Given the description of an element on the screen output the (x, y) to click on. 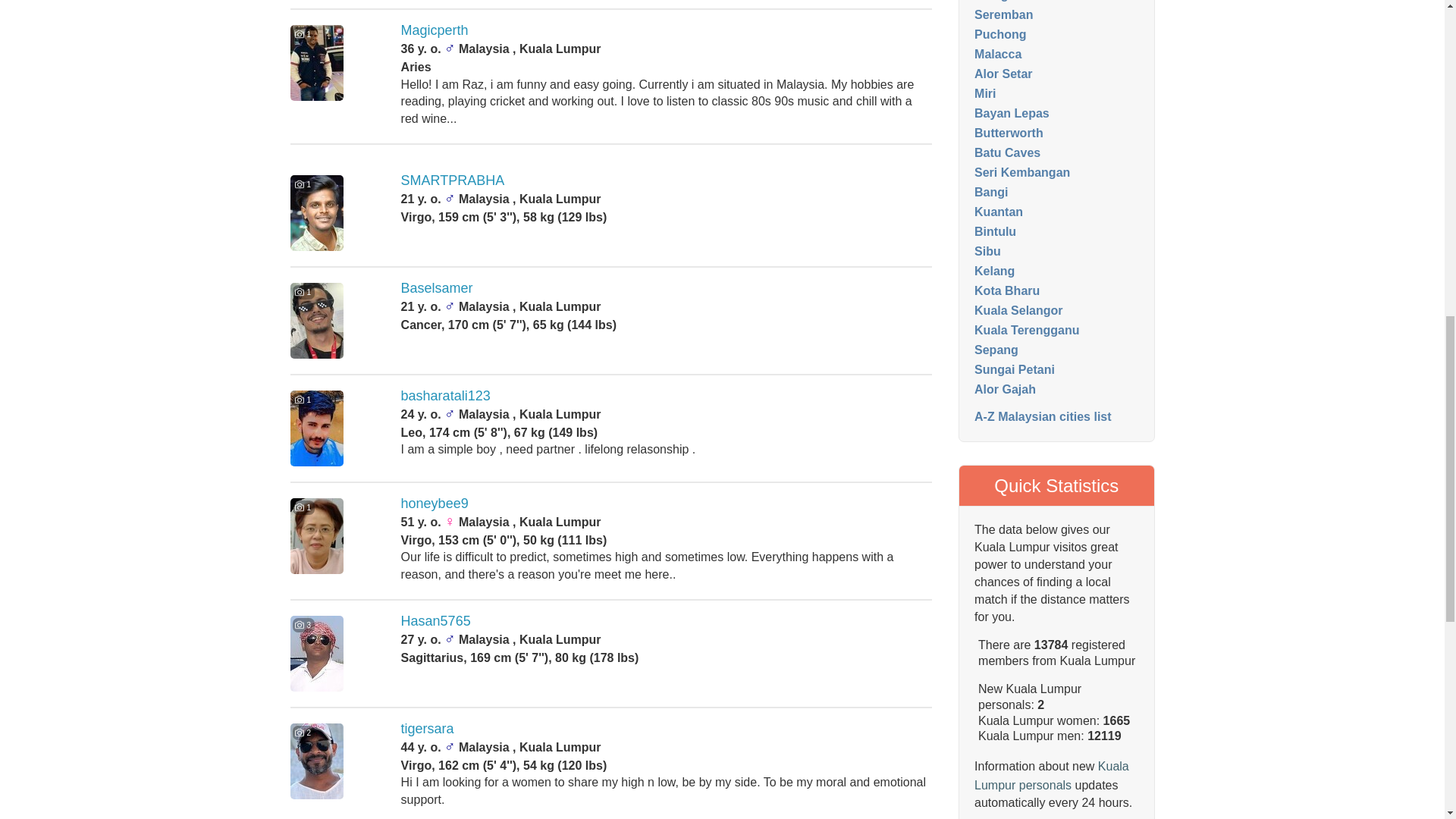
honeybee9 (434, 503)
Magicperth (434, 29)
tigersara (427, 728)
Hasan5765 (435, 620)
SMARTPRABHA (453, 180)
basharatali123 (445, 395)
Baselsamer (437, 287)
